Given the description of an element on the screen output the (x, y) to click on. 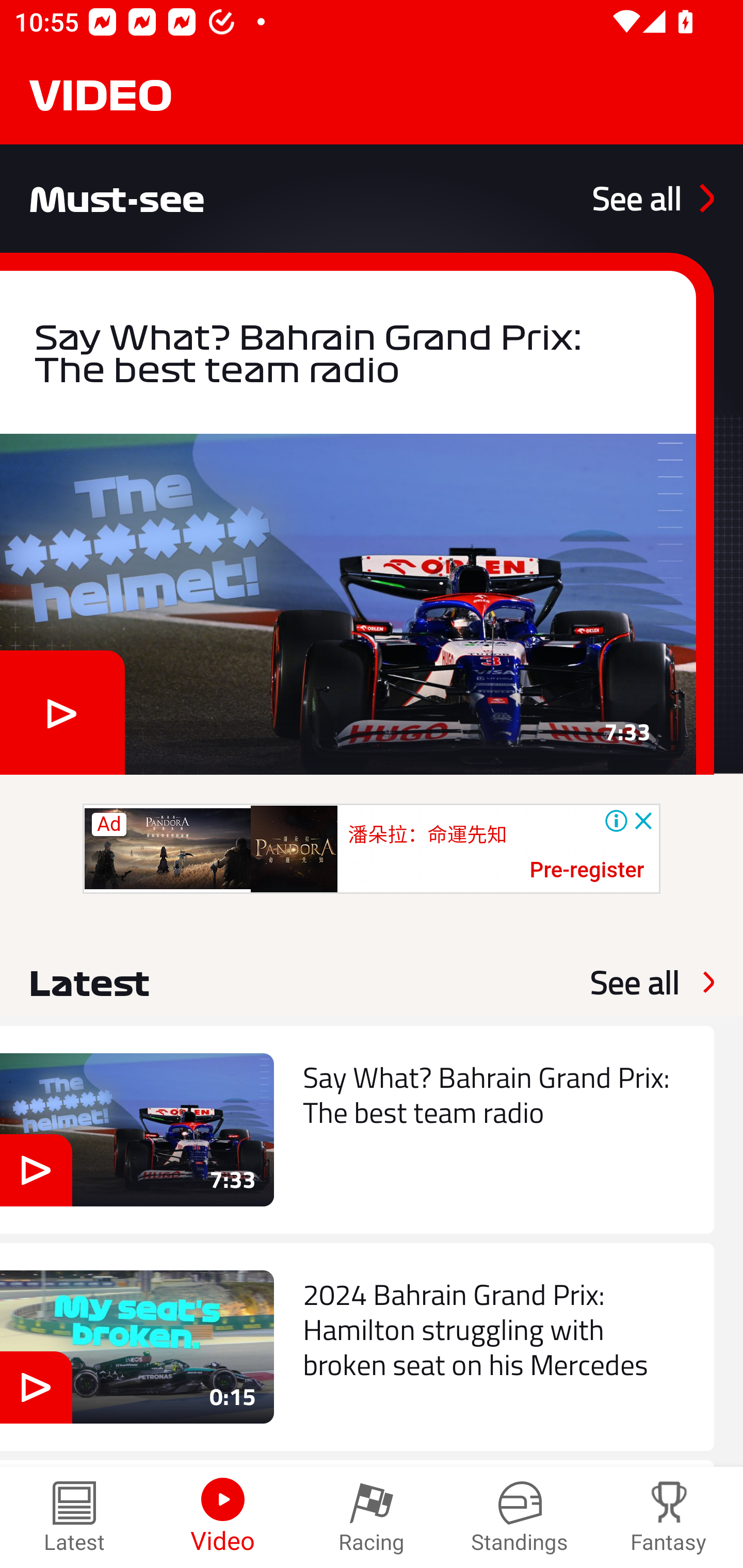
See all (653, 198)
潘朵拉：命運先知 (427, 834)
Pre-register (586, 870)
See all (634, 982)
Latest (74, 1517)
Racing (371, 1517)
Standings (519, 1517)
Fantasy (668, 1517)
